Given the description of an element on the screen output the (x, y) to click on. 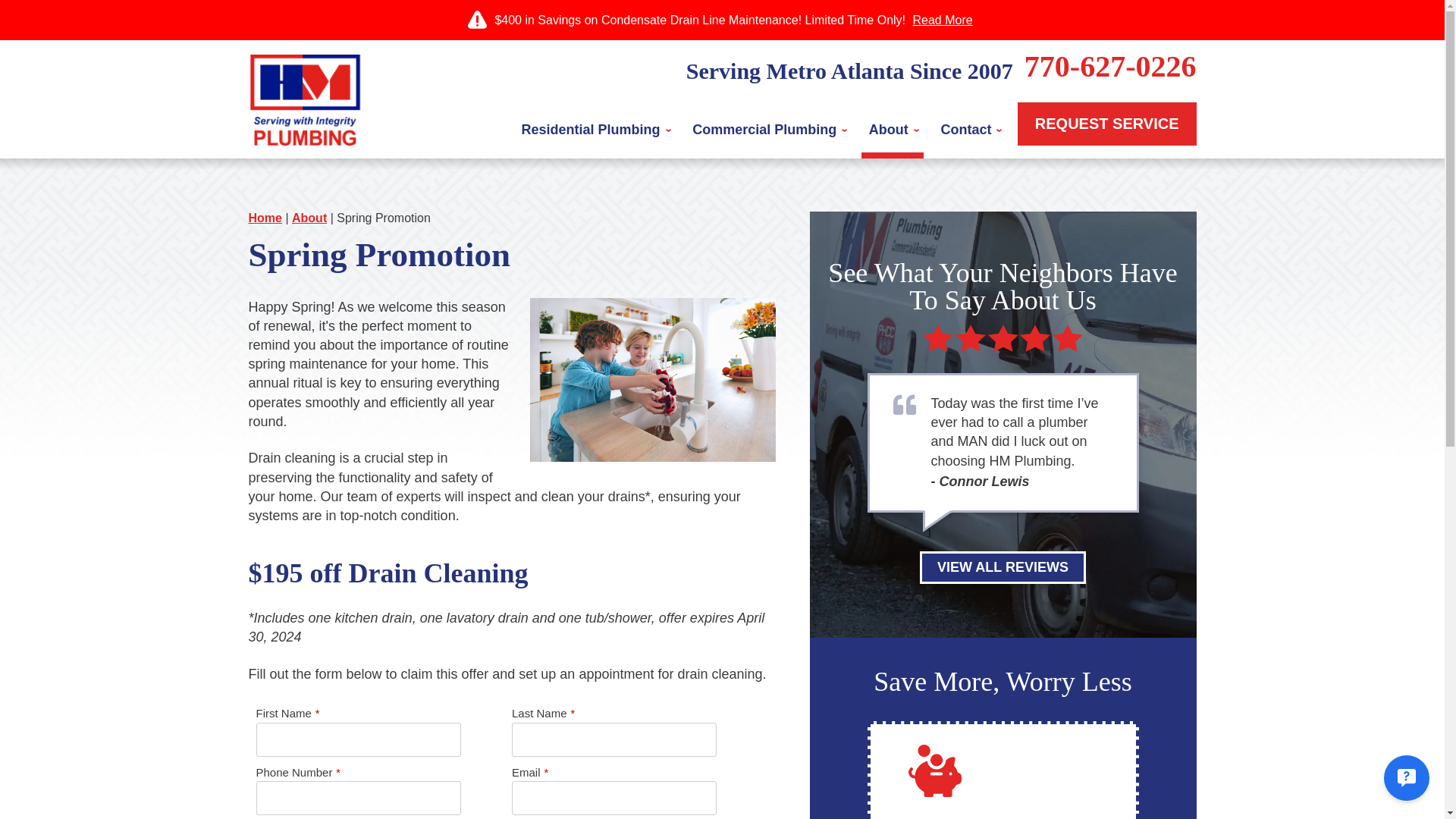
About HM Plumbing (309, 217)
Read More (941, 19)
770-627-0226 (1110, 66)
Residential Plumbing (594, 130)
Commercial Plumbing (767, 130)
REQUEST SERVICE (1106, 123)
Expert Plumbing Services in Atlanta, GA (265, 217)
About (892, 130)
Contact (969, 130)
